Given the description of an element on the screen output the (x, y) to click on. 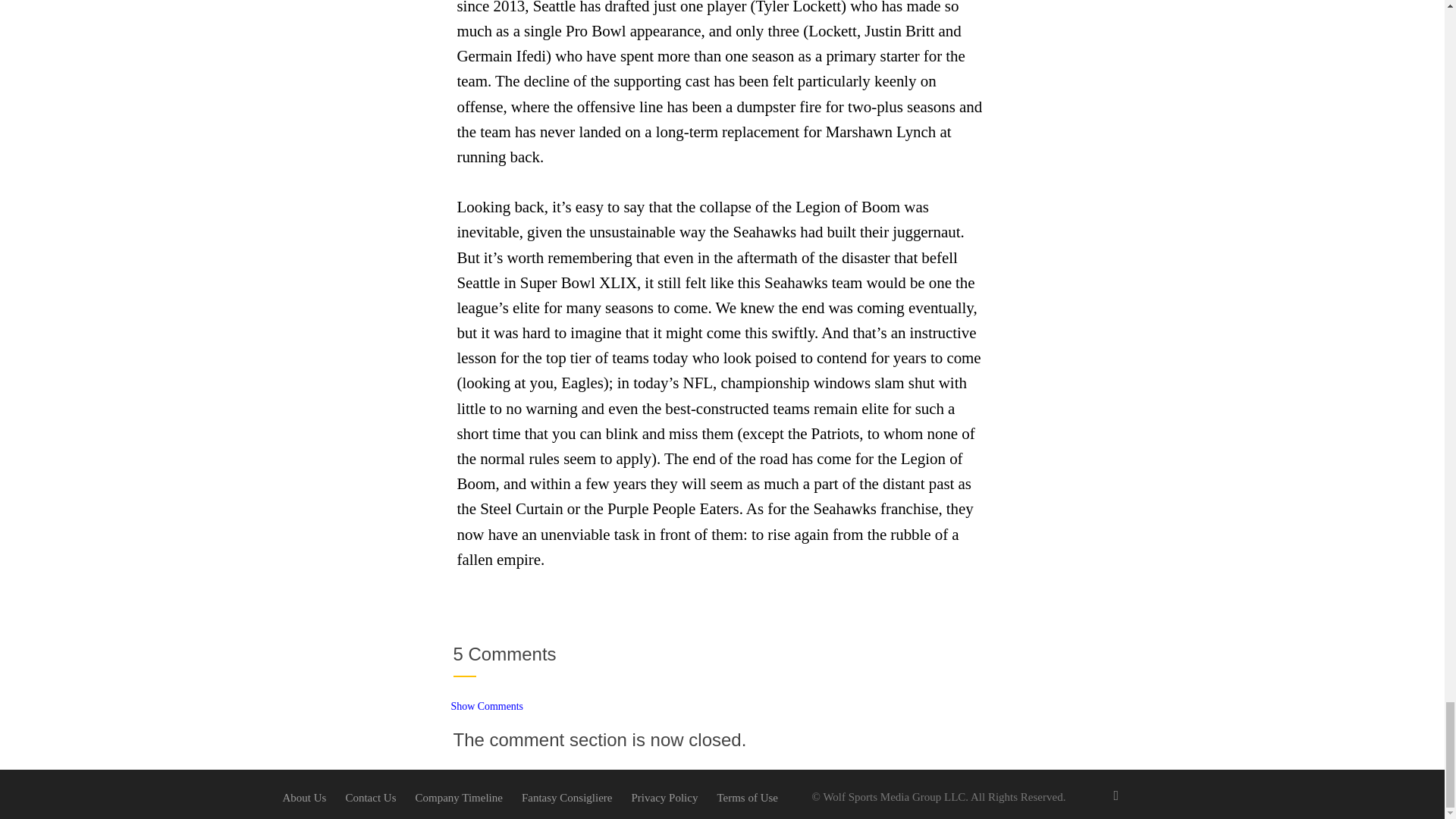
Contact Us (370, 797)
Show Comments (486, 706)
Privacy Policy (664, 797)
Terms of Use (746, 797)
About Us (304, 797)
Company Timeline (458, 797)
Fantasy Consigliere (566, 797)
